Given the description of an element on the screen output the (x, y) to click on. 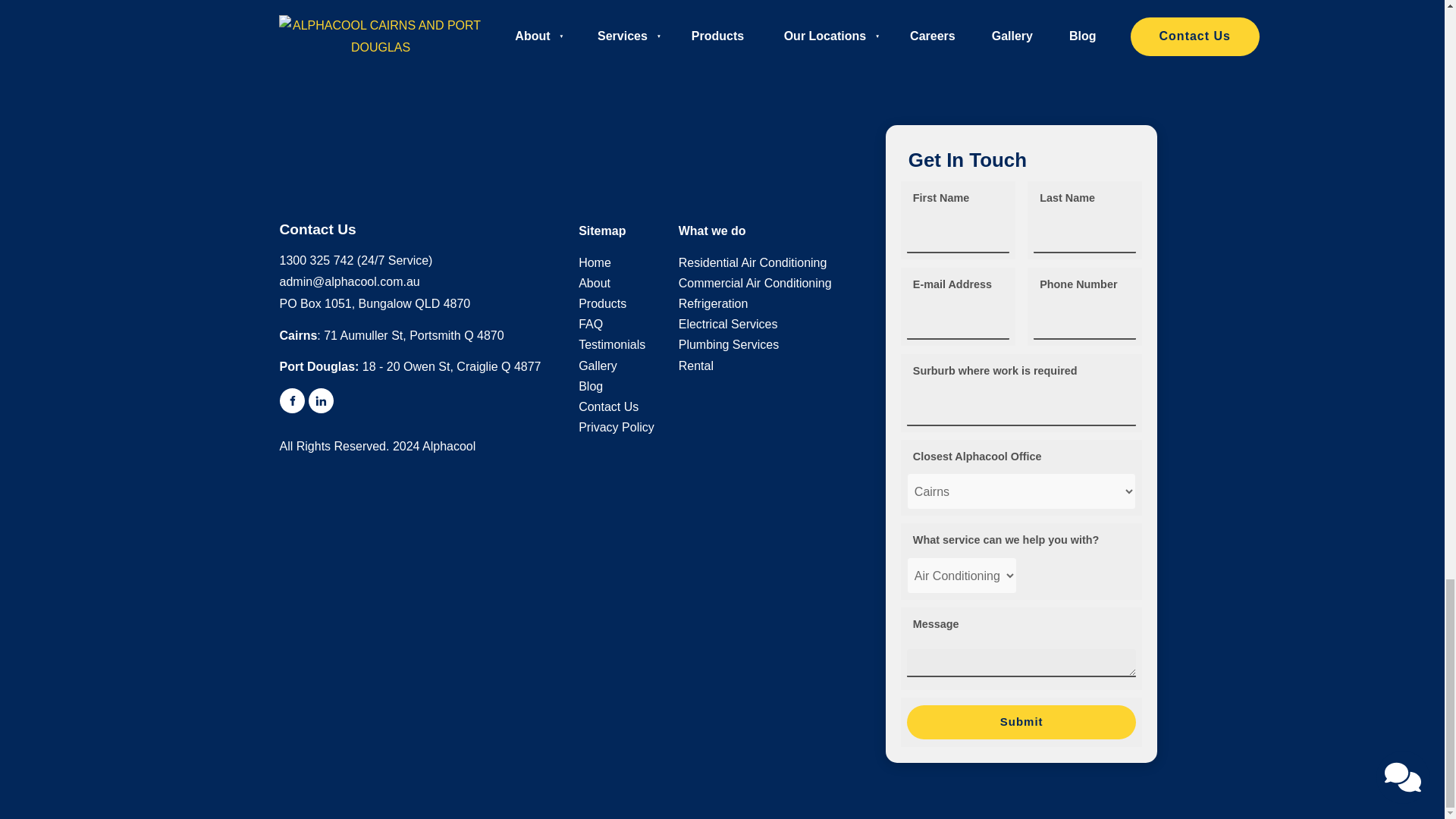
LinkedIn (320, 400)
Facebook (291, 400)
1300 325 742 (316, 259)
